Given the description of an element on the screen output the (x, y) to click on. 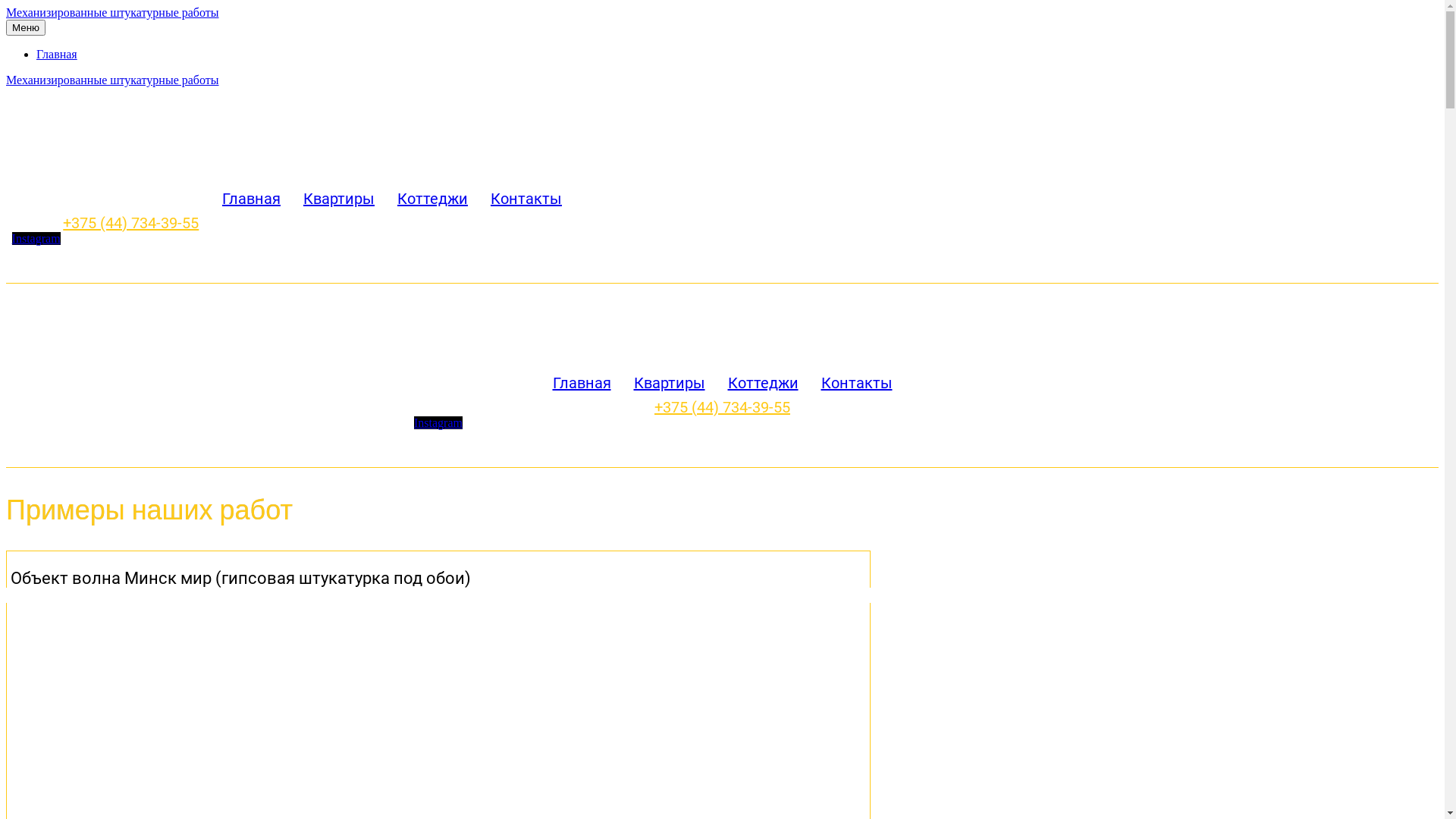
Instagram Element type: text (438, 422)
+375 (44) 734-39-55 Element type: text (722, 407)
Instagram Element type: text (36, 238)
+375 (44) 734-39-55 Element type: text (130, 222)
